Given the description of an element on the screen output the (x, y) to click on. 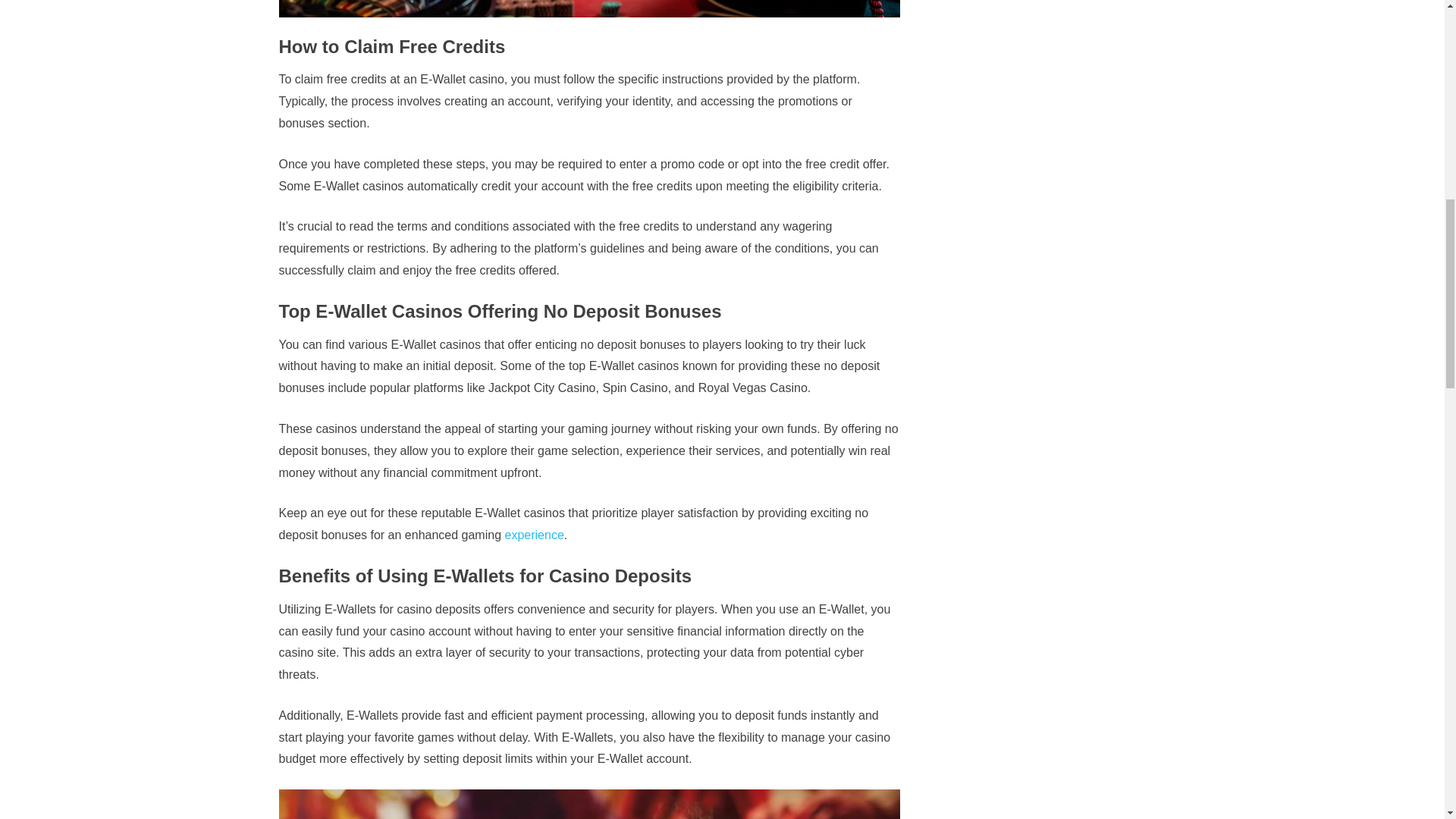
experience (534, 534)
